Given the description of an element on the screen output the (x, y) to click on. 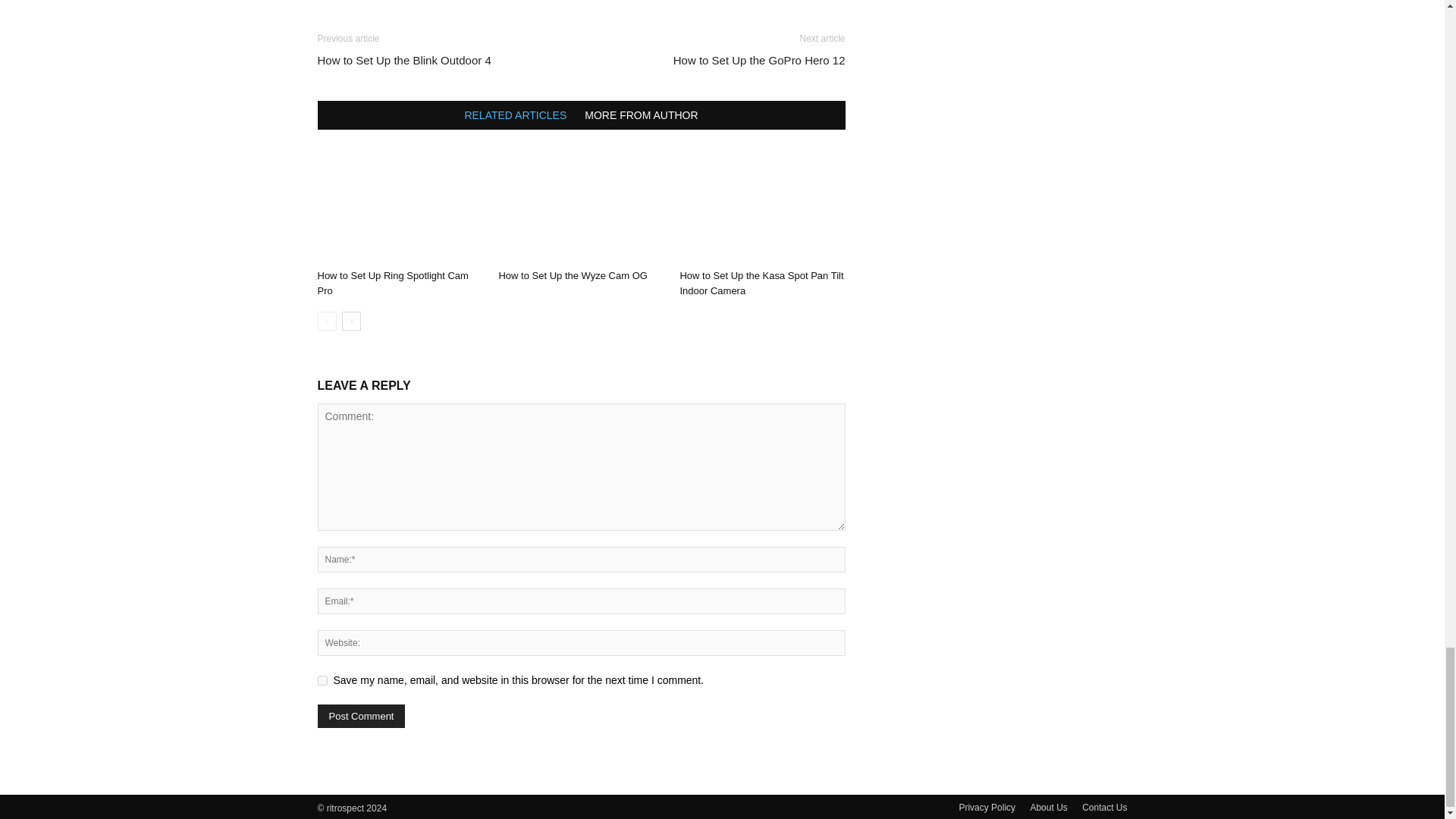
Post Comment (360, 716)
yes (321, 680)
How to Set Up Ring Spotlight Cam Pro (399, 205)
How to Set Up the Wyze Cam OG (571, 275)
RELATED ARTICLES (515, 114)
MORE FROM AUTHOR (641, 114)
How to Set Up the Kasa Spot Pan Tilt Indoor Camera (761, 283)
How to Set Up the GoPro Hero 12 (758, 59)
How to Set Up Ring Spotlight Cam Pro (392, 283)
How to Set Up Ring Spotlight Cam Pro (392, 283)
